Given the description of an element on the screen output the (x, y) to click on. 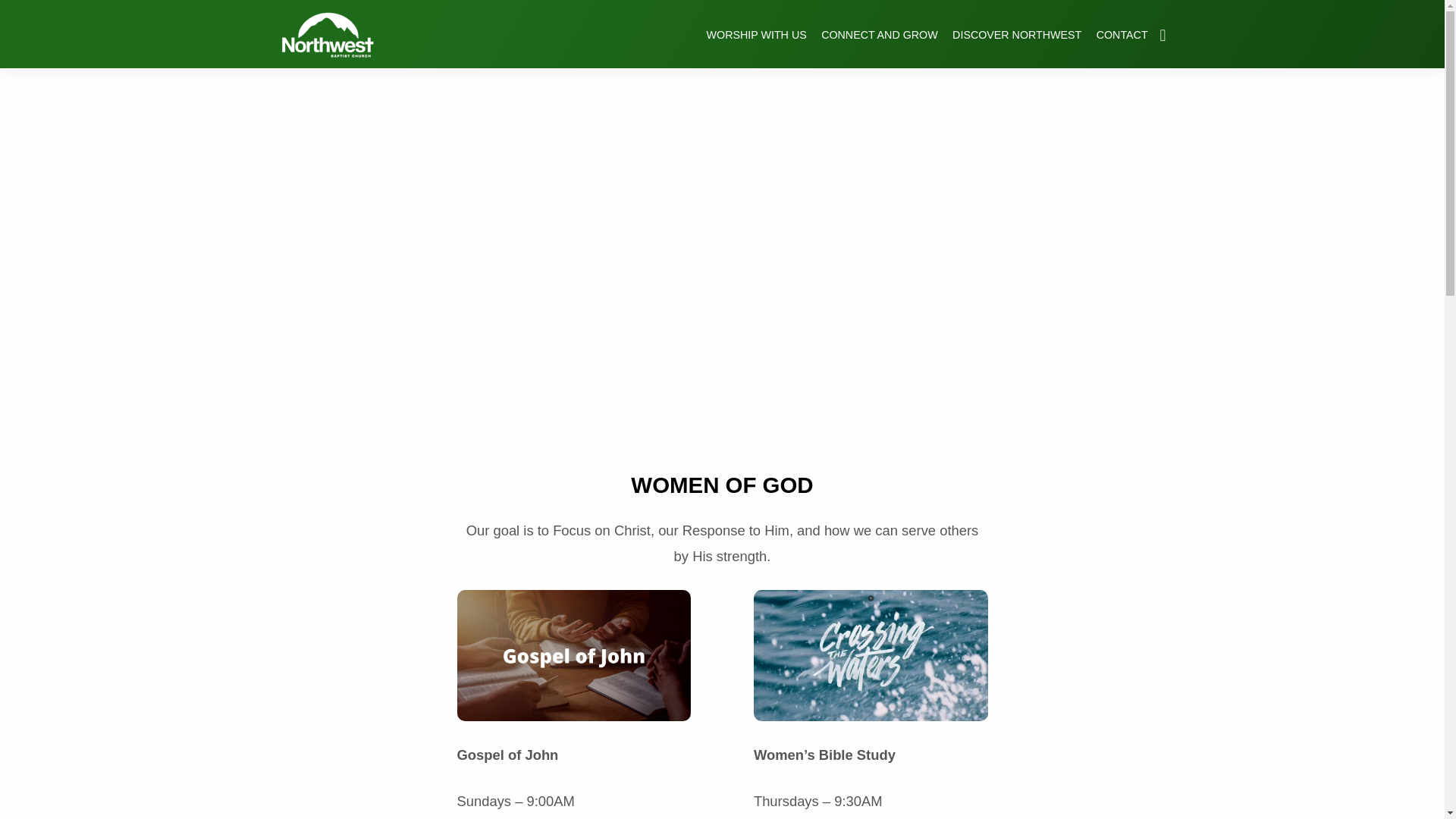
CONTACT (1122, 44)
CONNECT AND GROW (879, 44)
WORSHIP WITH US (756, 44)
DISCOVER NORTHWEST (1016, 44)
